Given the description of an element on the screen output the (x, y) to click on. 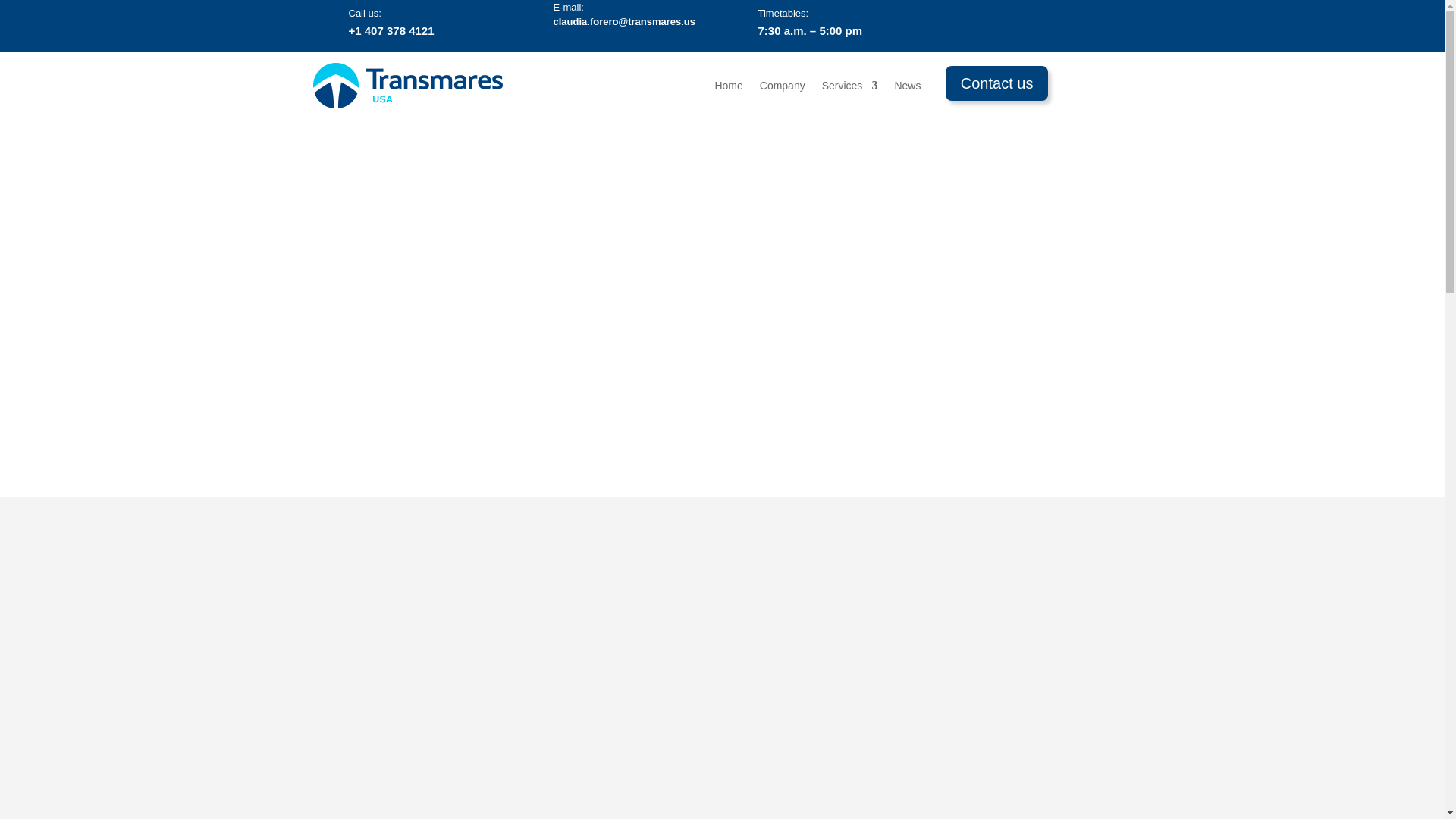
Spanish (1122, 17)
English (1102, 17)
Contact us (996, 83)
Services (849, 85)
